Given the description of an element on the screen output the (x, y) to click on. 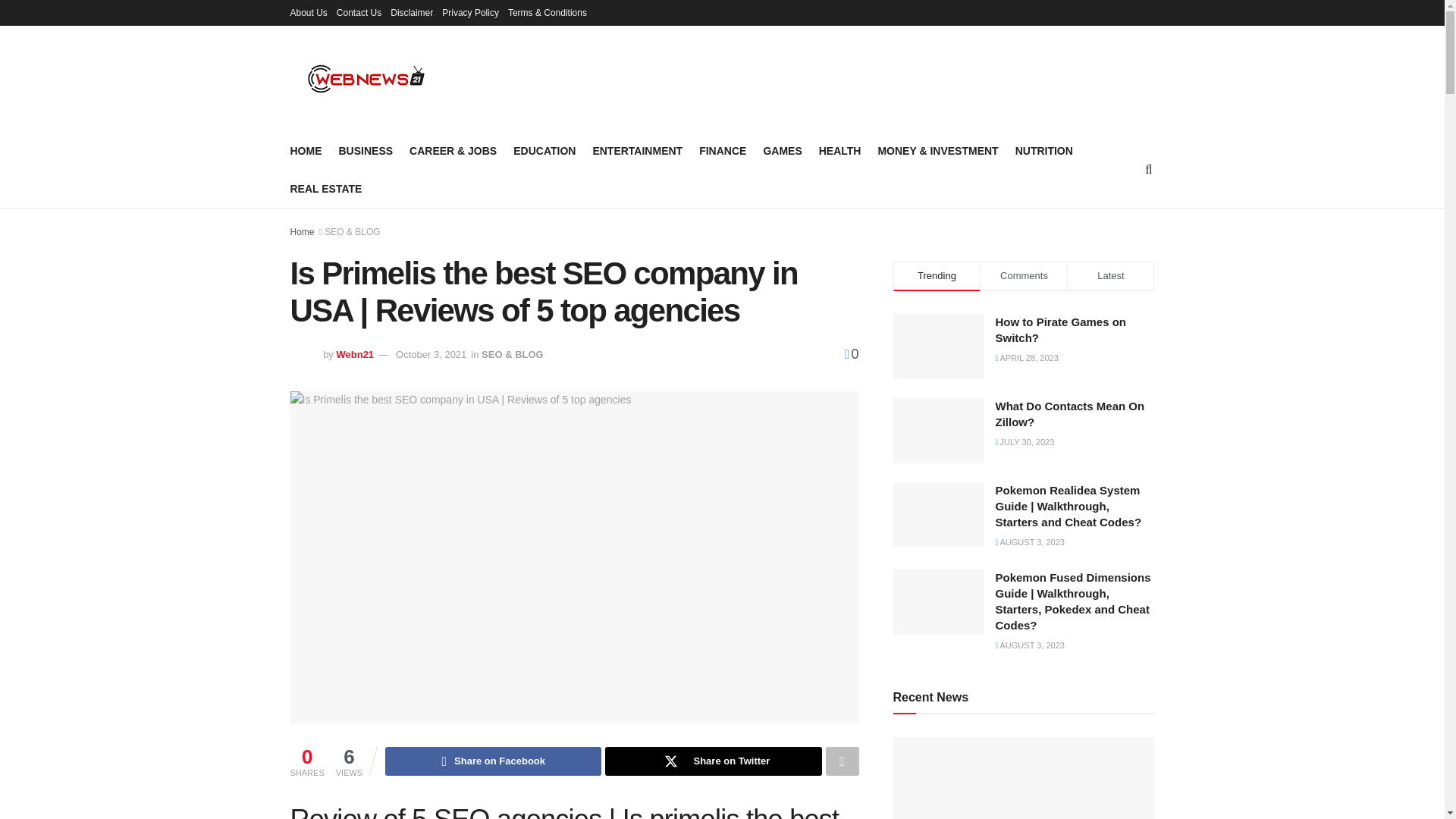
HOME (305, 150)
NUTRITION (1043, 150)
FINANCE (721, 150)
Webn21 (355, 354)
Home (301, 231)
October 3, 2021 (430, 354)
GAMES (782, 150)
ENTERTAINMENT (637, 150)
REAL ESTATE (325, 188)
Contact Us (358, 12)
EDUCATION (544, 150)
BUSINESS (365, 150)
About Us (307, 12)
Disclaimer (411, 12)
HEALTH (839, 150)
